Given the description of an element on the screen output the (x, y) to click on. 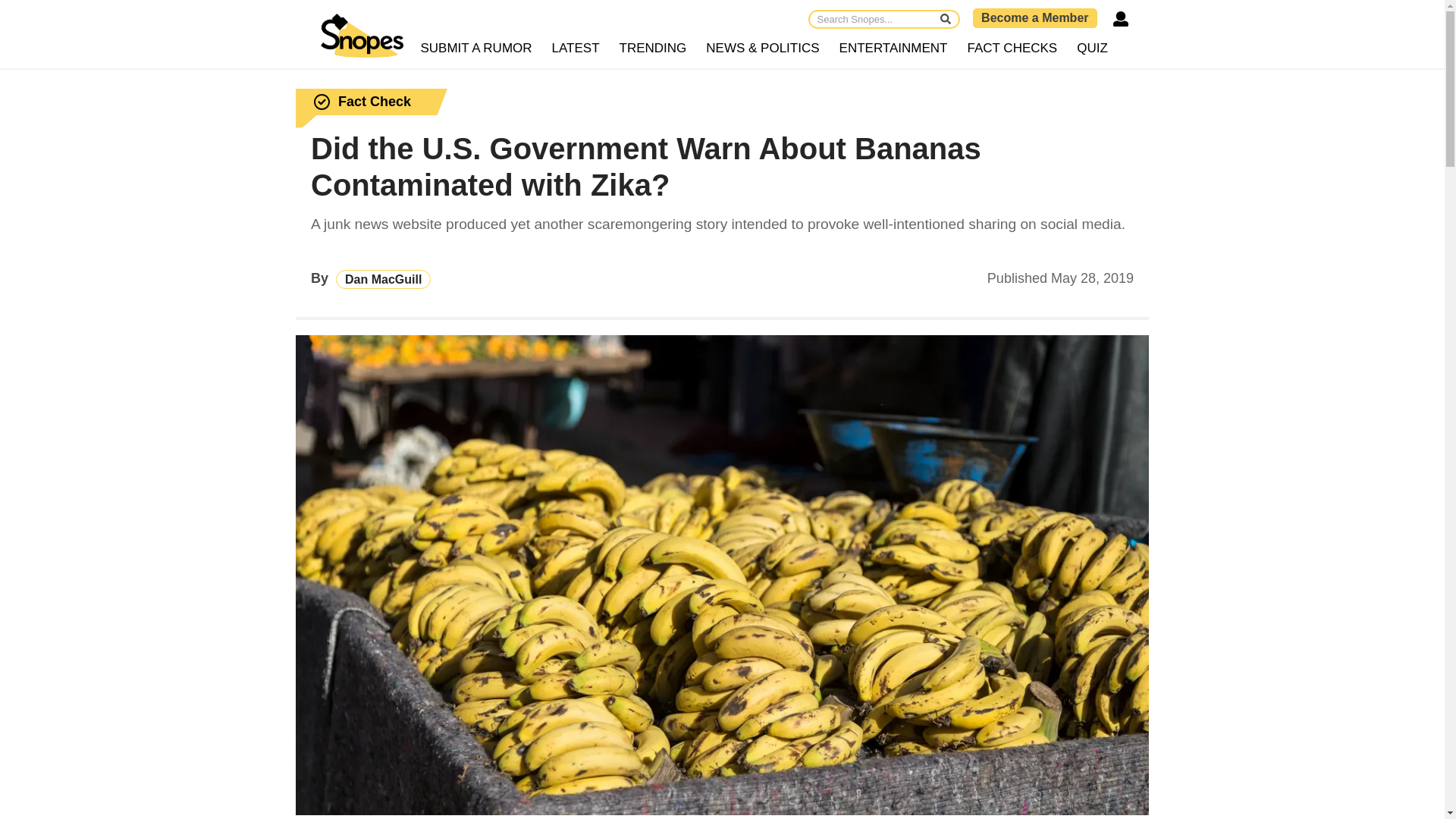
TRENDING (653, 47)
FACT CHECKS (1011, 47)
Dan MacGuill (383, 279)
LATEST (576, 47)
Become a Member (1034, 17)
SUBMIT A RUMOR (475, 47)
QUIZ (1092, 47)
ENTERTAINMENT (893, 47)
